Given the description of an element on the screen output the (x, y) to click on. 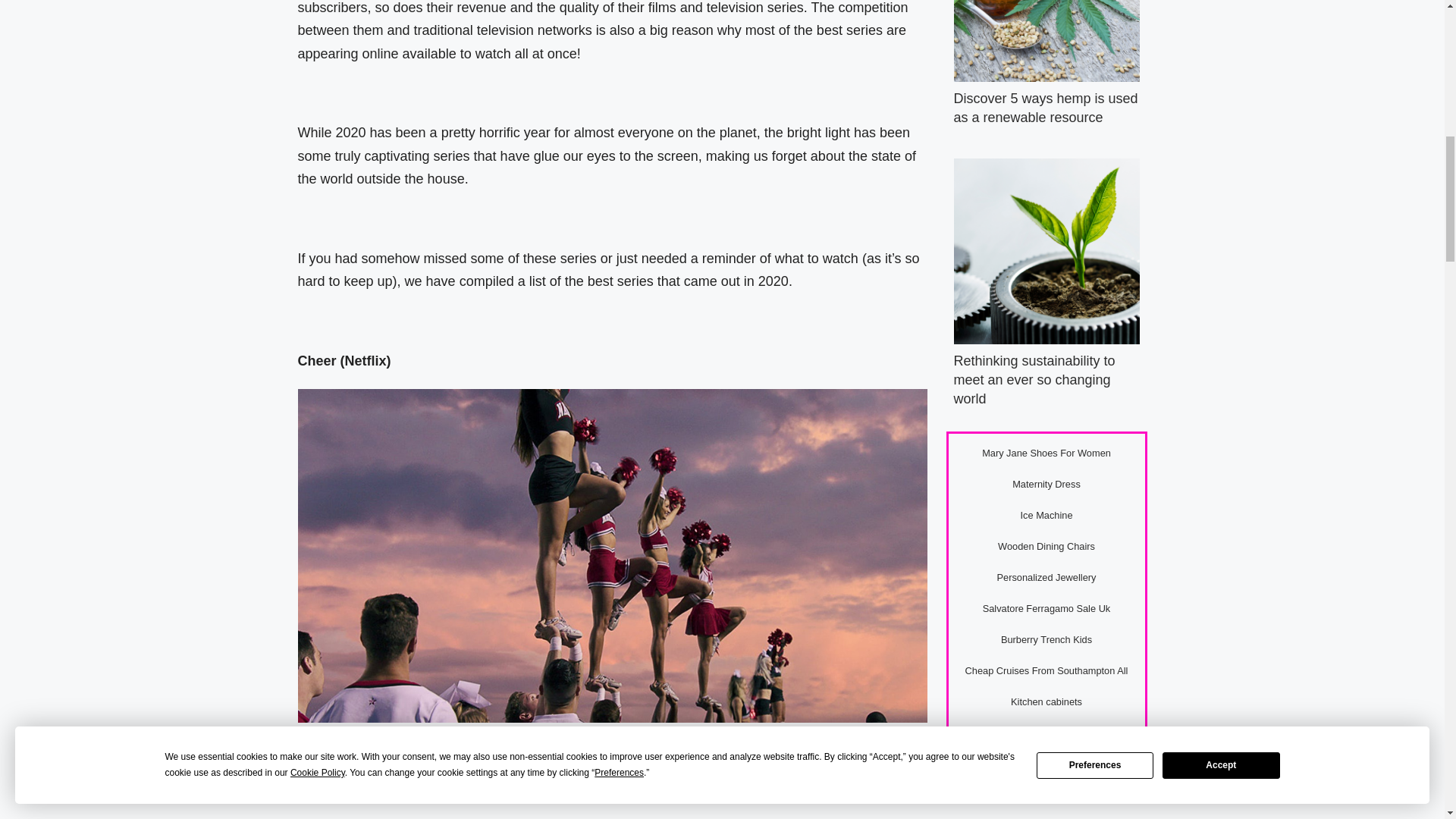
Kitchen cabinets (1045, 701)
Discover 5 ways hemp is used as a renewable resource (1045, 107)
Salvatore Ferragamo Sale Uk (1046, 608)
Maternity Dress (1045, 483)
Wooden Dining Chairs (1045, 546)
Cheap Edinburgh Hotels City Centre City (1046, 732)
Ice Machine (1046, 514)
Cheap Cruises From Southampton All (1046, 670)
Rethinking sustainability to meet an ever so changing world (1034, 379)
Burberry Trench Kids (1046, 639)
Personalized Jewellery (1046, 577)
Mary Jane Shoes For Women (1045, 452)
